Given the description of an element on the screen output the (x, y) to click on. 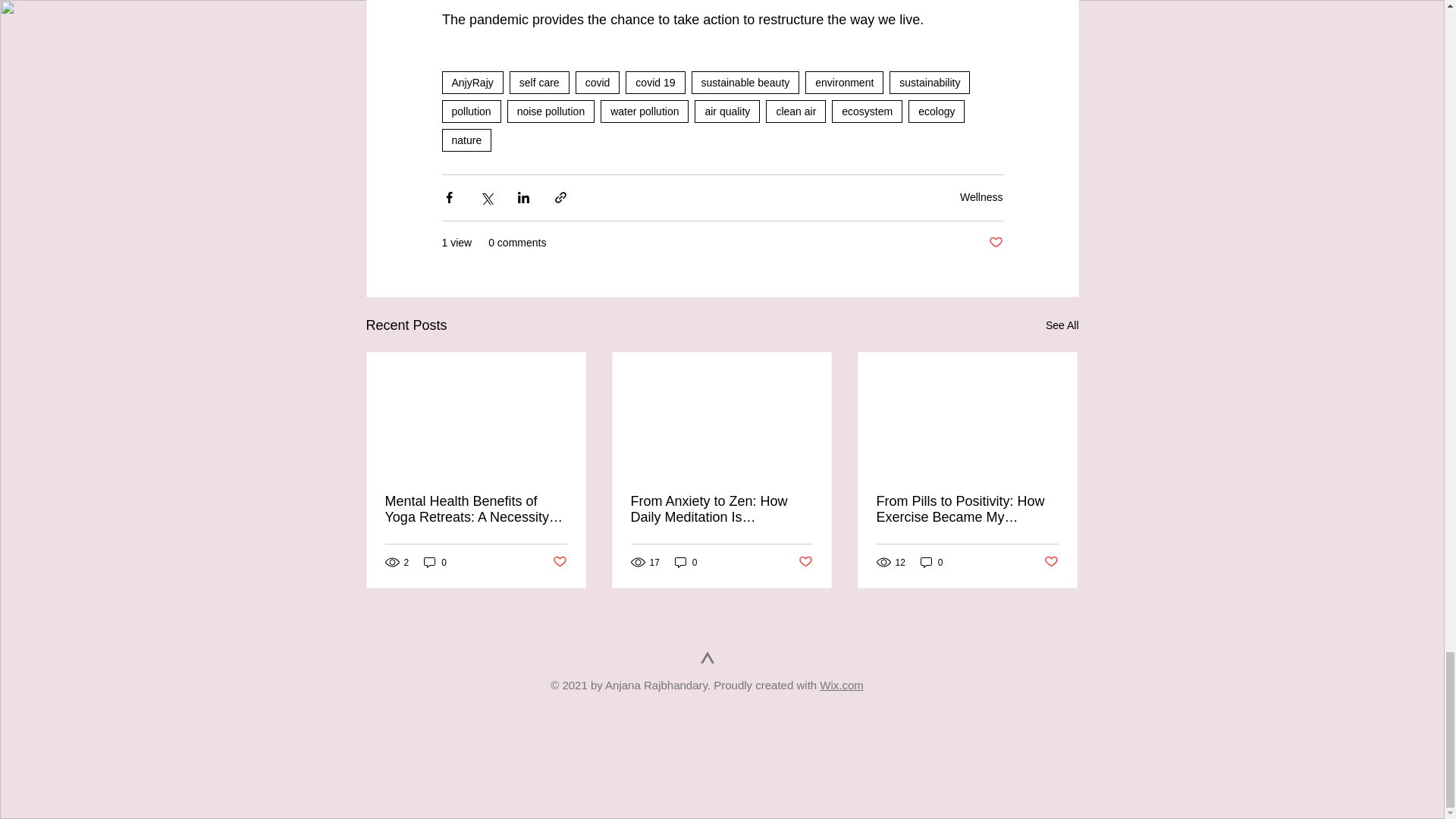
clean air (795, 110)
covid (597, 82)
sustainable beauty (745, 82)
air quality (727, 110)
nature (466, 139)
AnjyRajy (471, 82)
ecology (935, 110)
water pollution (643, 110)
sustainability (929, 82)
self care (539, 82)
